Given the description of an element on the screen output the (x, y) to click on. 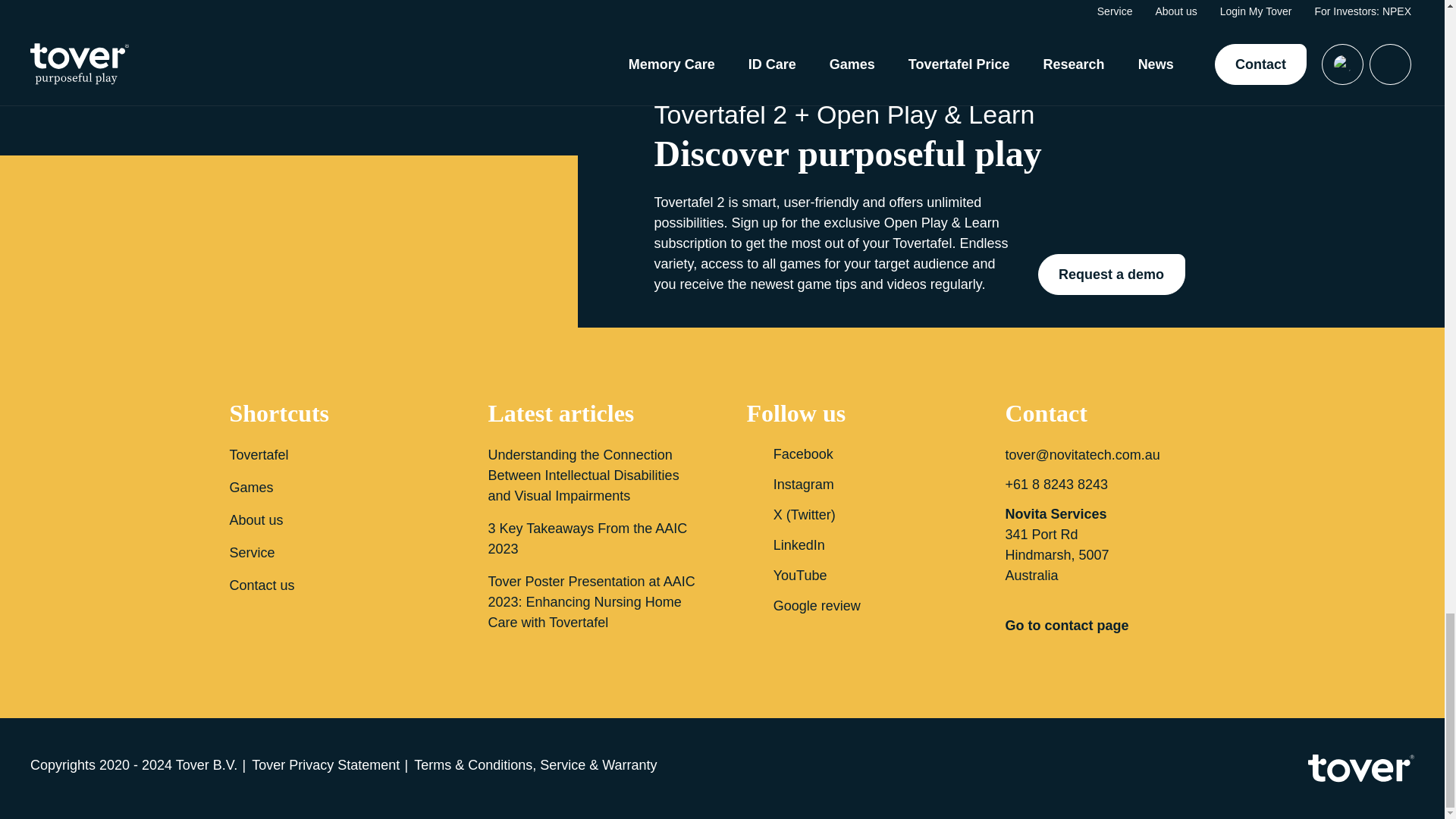
YouTube (850, 575)
Xing (850, 606)
Instagram (850, 484)
X (850, 515)
Facebook (850, 454)
LinkedIn (850, 545)
